Given the description of an element on the screen output the (x, y) to click on. 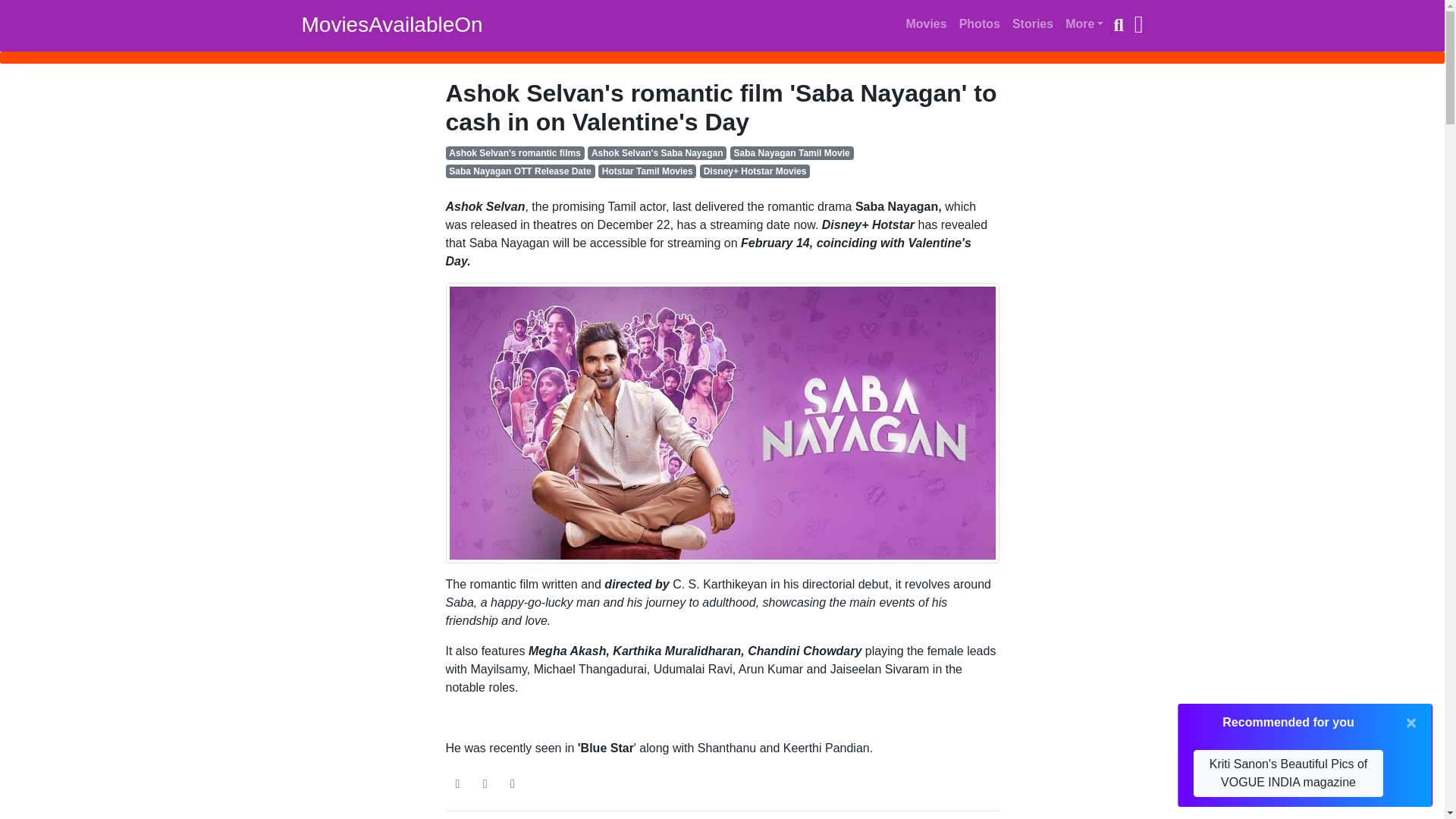
Movies (925, 25)
Photos (979, 25)
More (1087, 25)
Stories (1031, 25)
MoviesAvailableOn (392, 24)
